Given the description of an element on the screen output the (x, y) to click on. 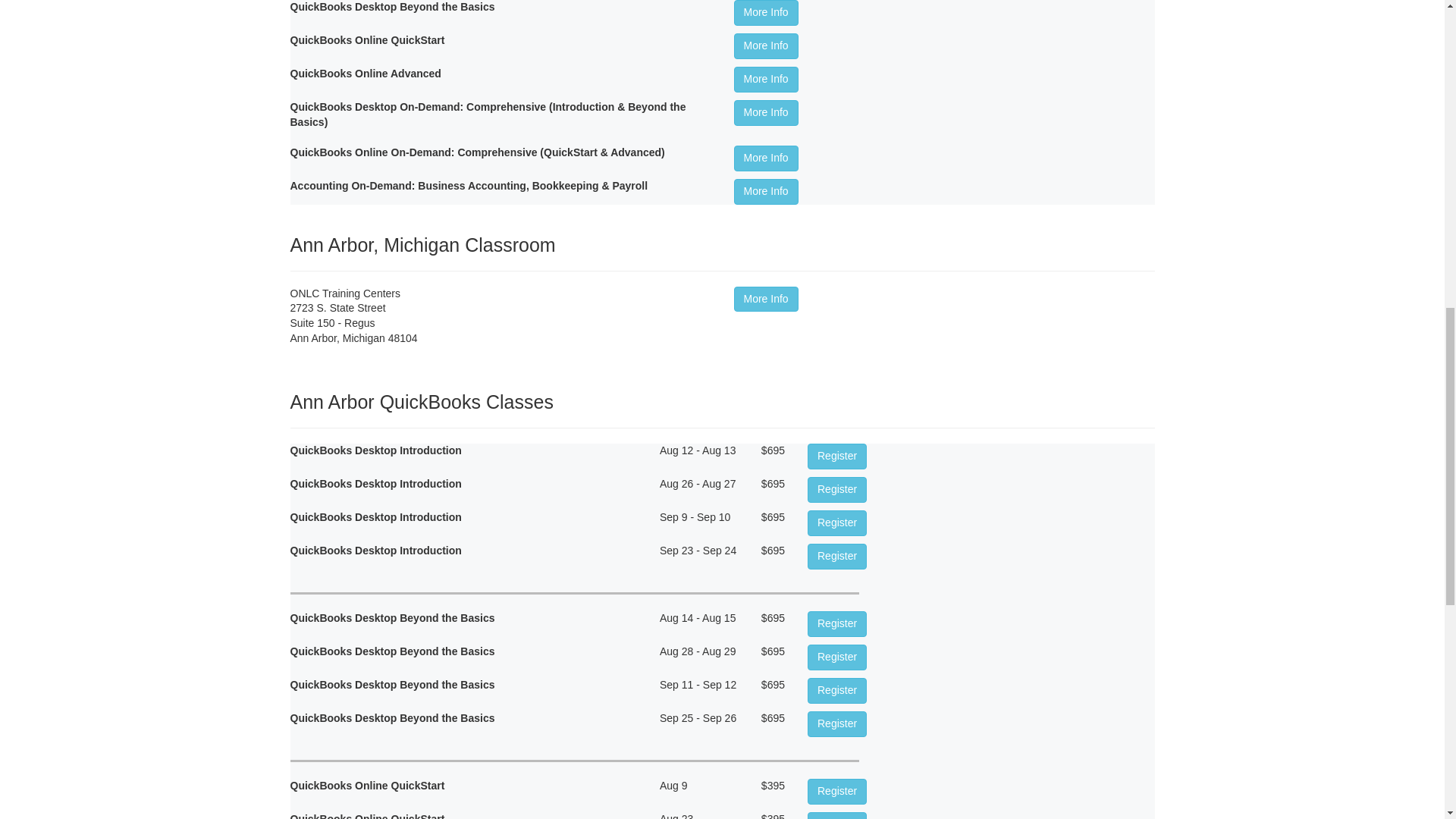
View outline, dates and pricing (837, 523)
site directions and info (765, 299)
View outline, dates and pricing (765, 12)
View outline, dates and pricing (765, 158)
View outline, dates and pricing (837, 815)
View outline, dates and pricing (837, 724)
View outline, dates and pricing (837, 489)
View outline, dates and pricing (837, 623)
View outline, dates and pricing (765, 45)
View outline, dates and pricing (765, 79)
View outline, dates and pricing (765, 112)
View outline, dates and pricing (837, 690)
View outline, dates and pricing (765, 191)
View outline, dates and pricing (837, 791)
View outline, dates and pricing (837, 657)
